Given the description of an element on the screen output the (x, y) to click on. 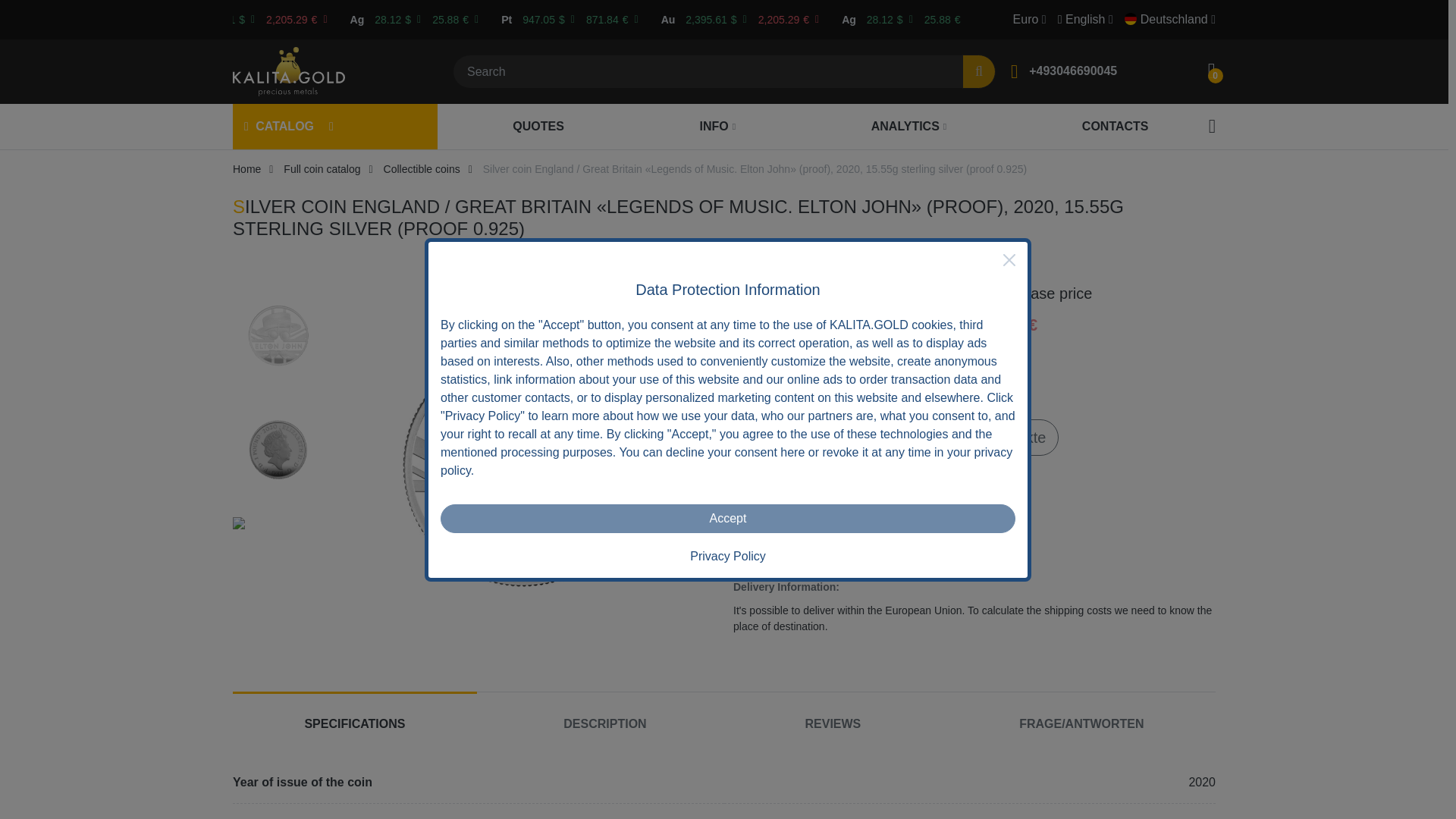
Collectible coins (422, 168)
1 (771, 437)
Full coin catalog (321, 168)
Home (246, 168)
CATALOG (278, 126)
